Given the description of an element on the screen output the (x, y) to click on. 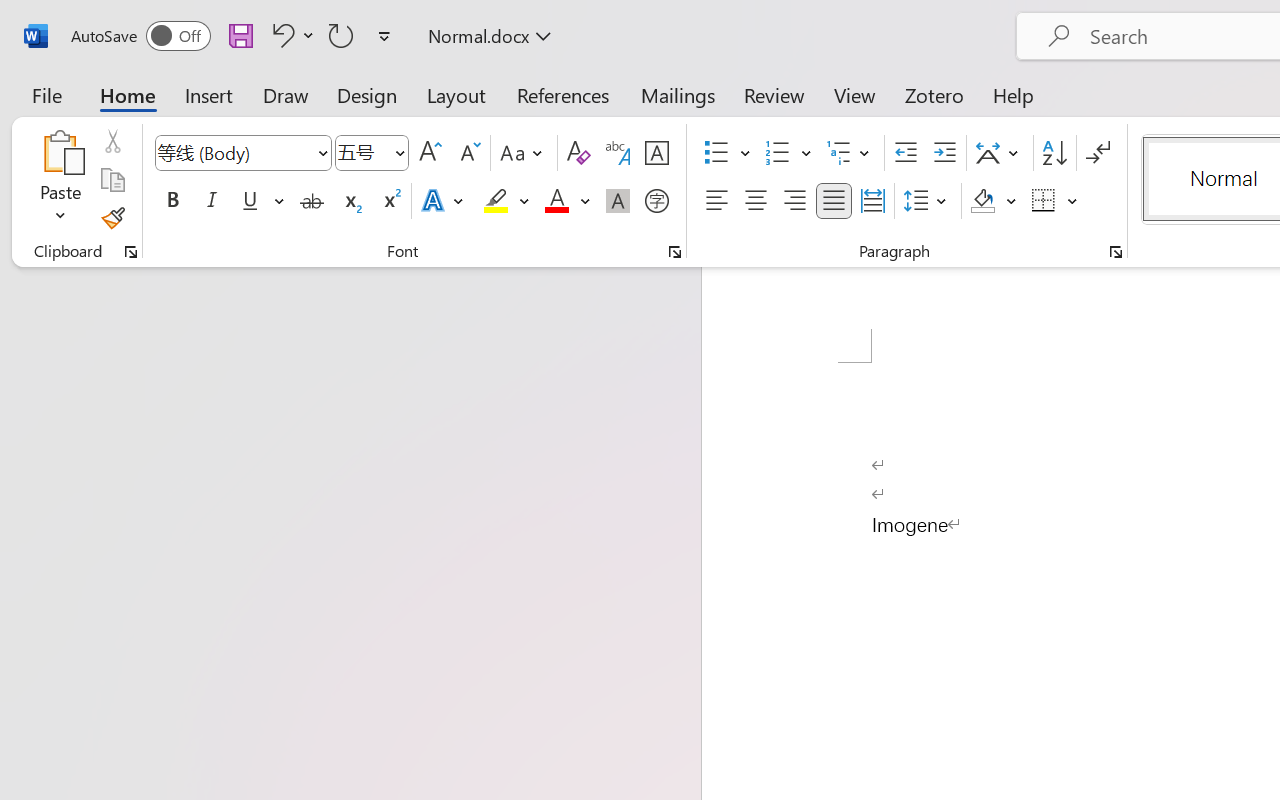
Increase Indent (944, 153)
Character Border (656, 153)
Distributed (872, 201)
Grow Font (430, 153)
Office Clipboard... (131, 252)
Superscript (390, 201)
Shading RGB(0, 0, 0) (982, 201)
